Given the description of an element on the screen output the (x, y) to click on. 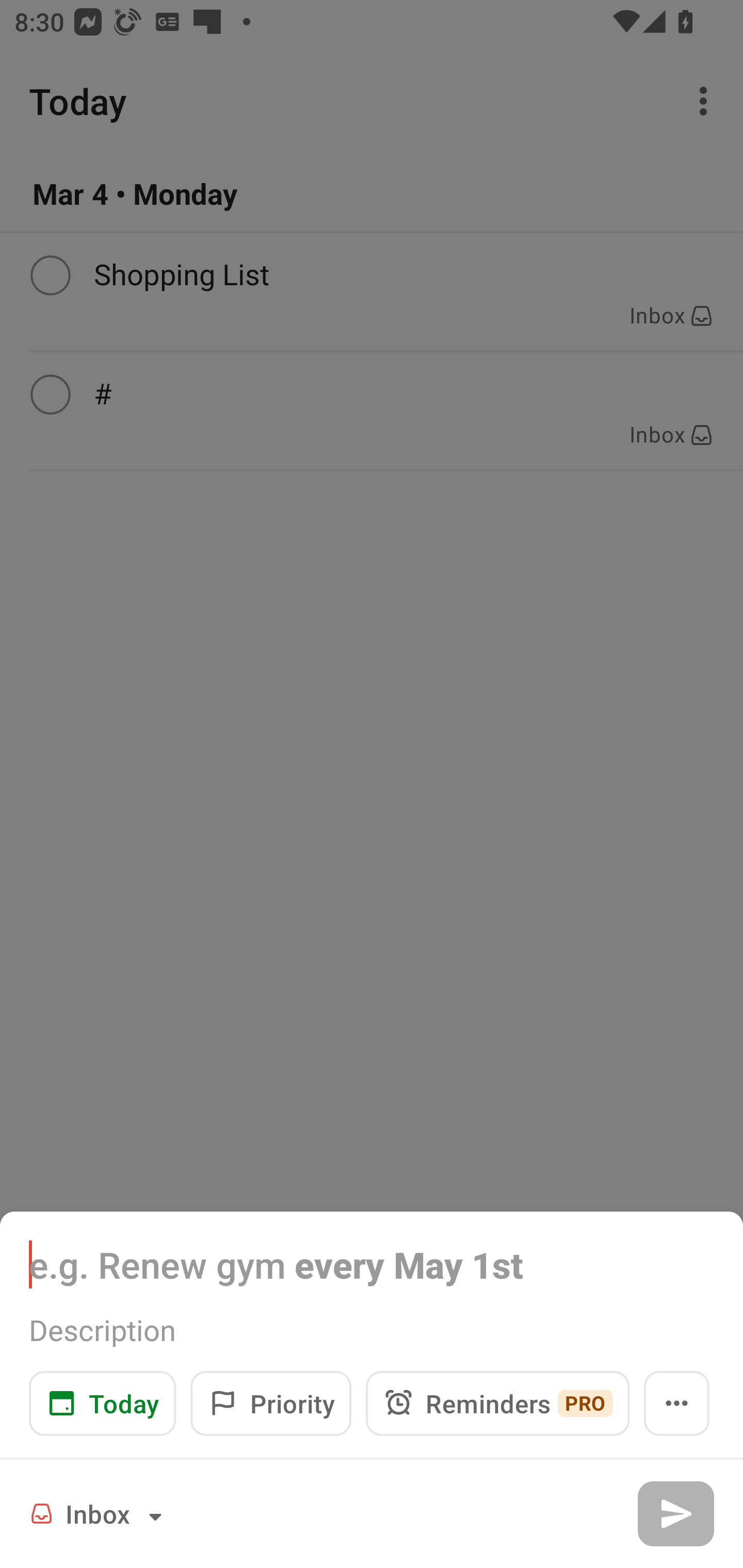
e.g. Renew gym every May 1st (371, 1264)
Description (371, 1330)
Today Date (102, 1403)
Priority (270, 1403)
Reminders PRO Reminders (497, 1403)
Open menu (676, 1403)
Inbox Project (99, 1513)
Add (675, 1513)
